Given the description of an element on the screen output the (x, y) to click on. 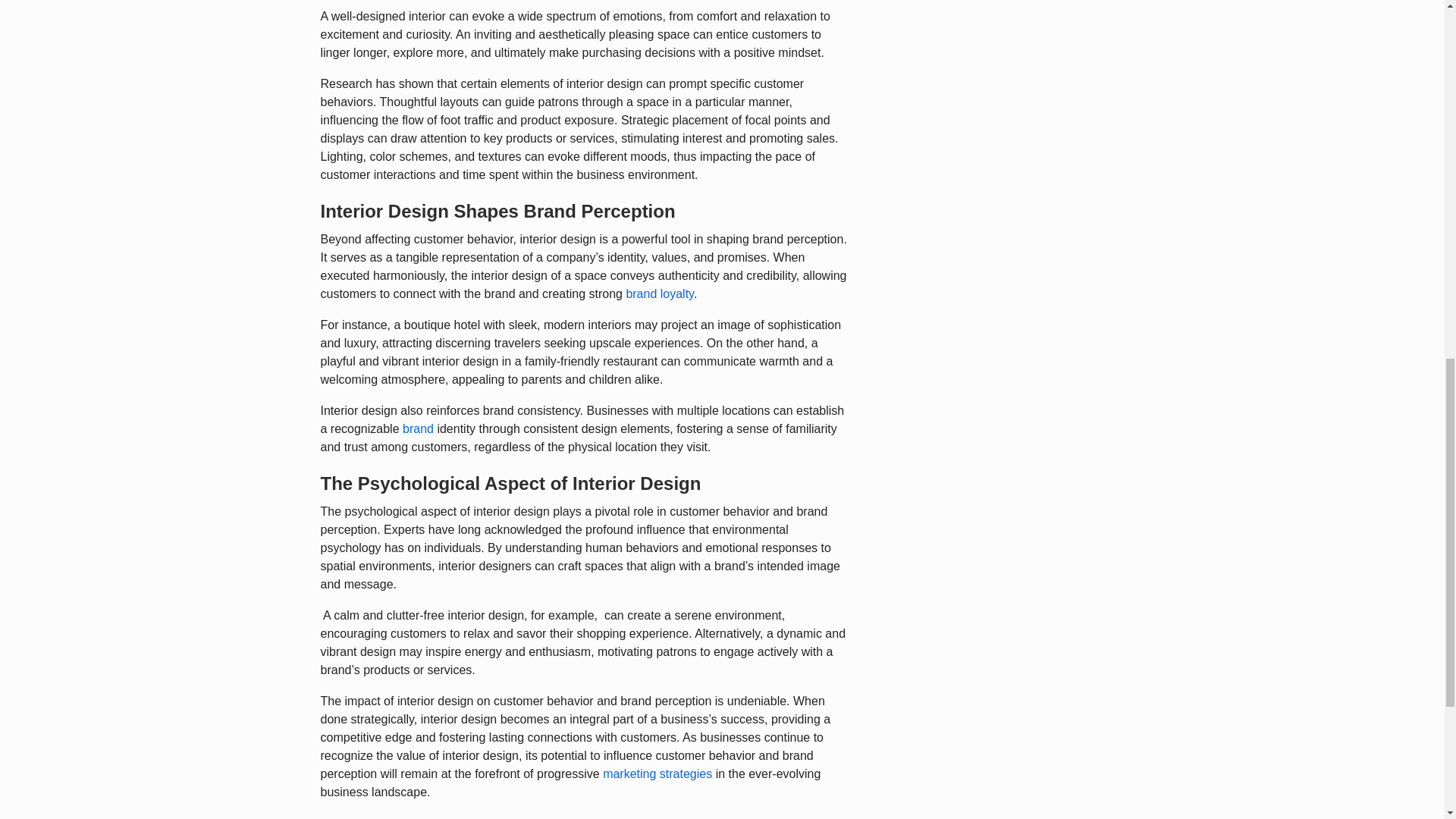
brand loyalty (660, 293)
brand (418, 428)
marketing strategies (656, 773)
